Given the description of an element on the screen output the (x, y) to click on. 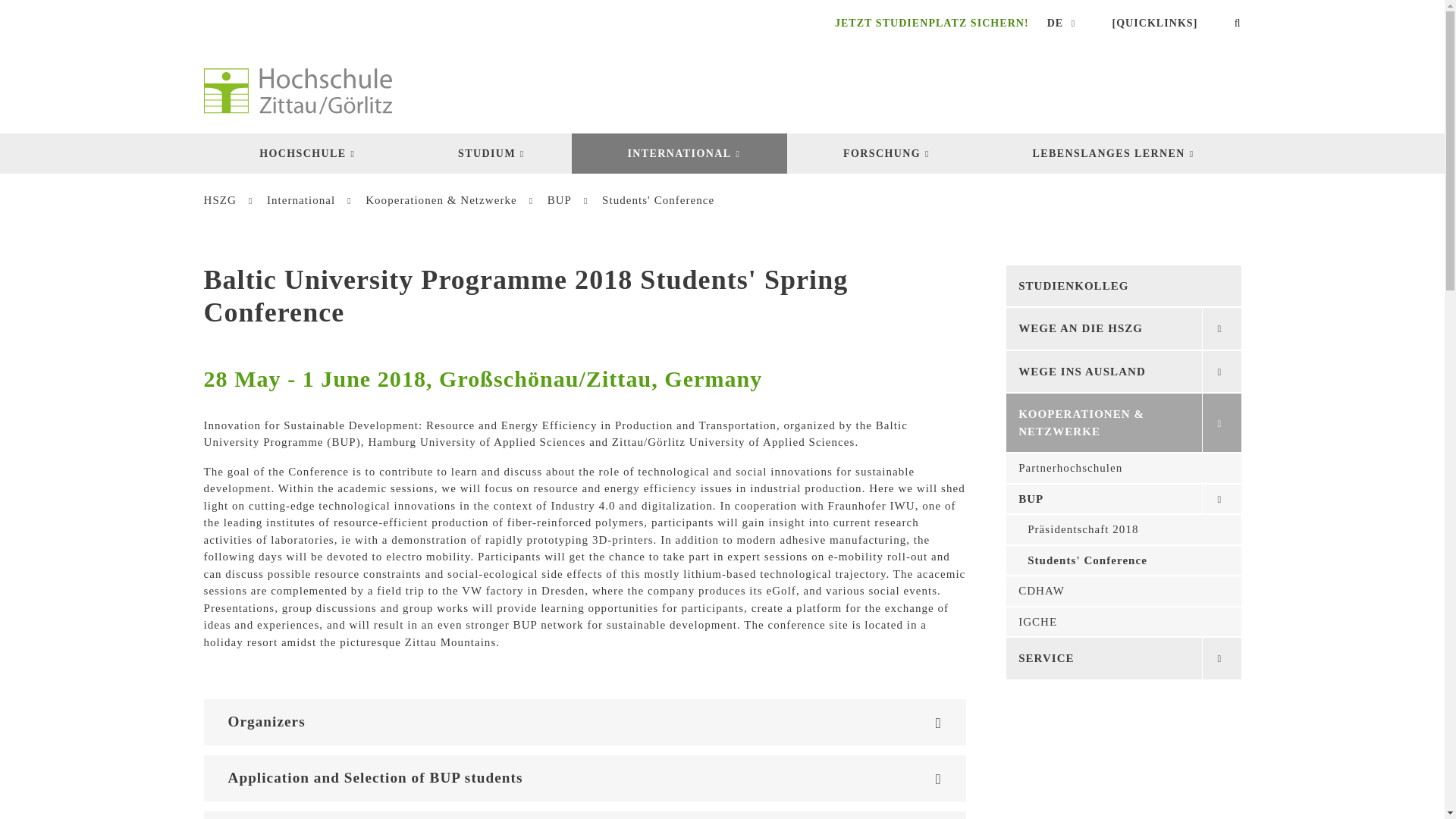
JETZT STUDIENPLATZ SICHERN! (922, 23)
